Given the description of an element on the screen output the (x, y) to click on. 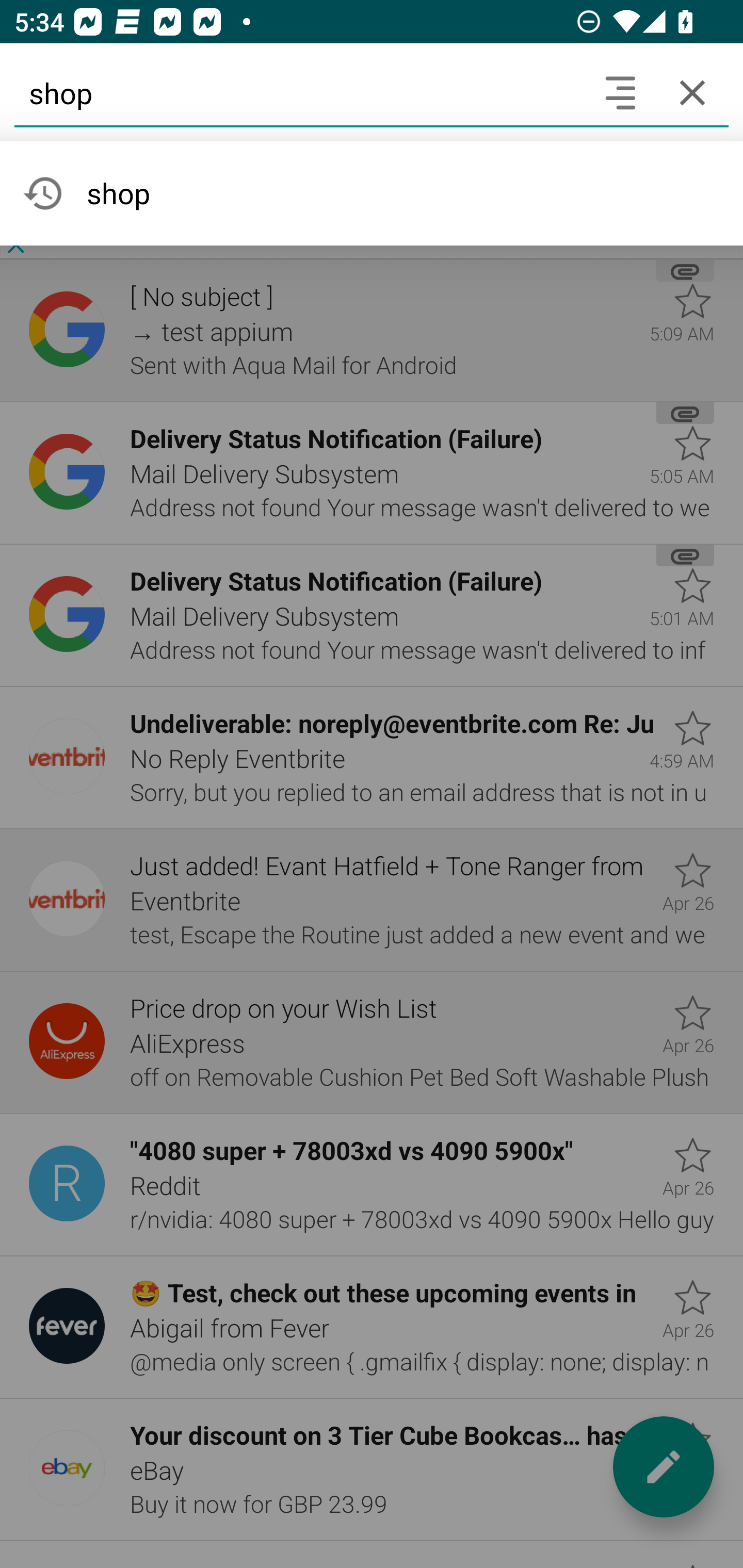
shop (298, 92)
Search headers and text (619, 92)
Cancel (692, 92)
